Given the description of an element on the screen output the (x, y) to click on. 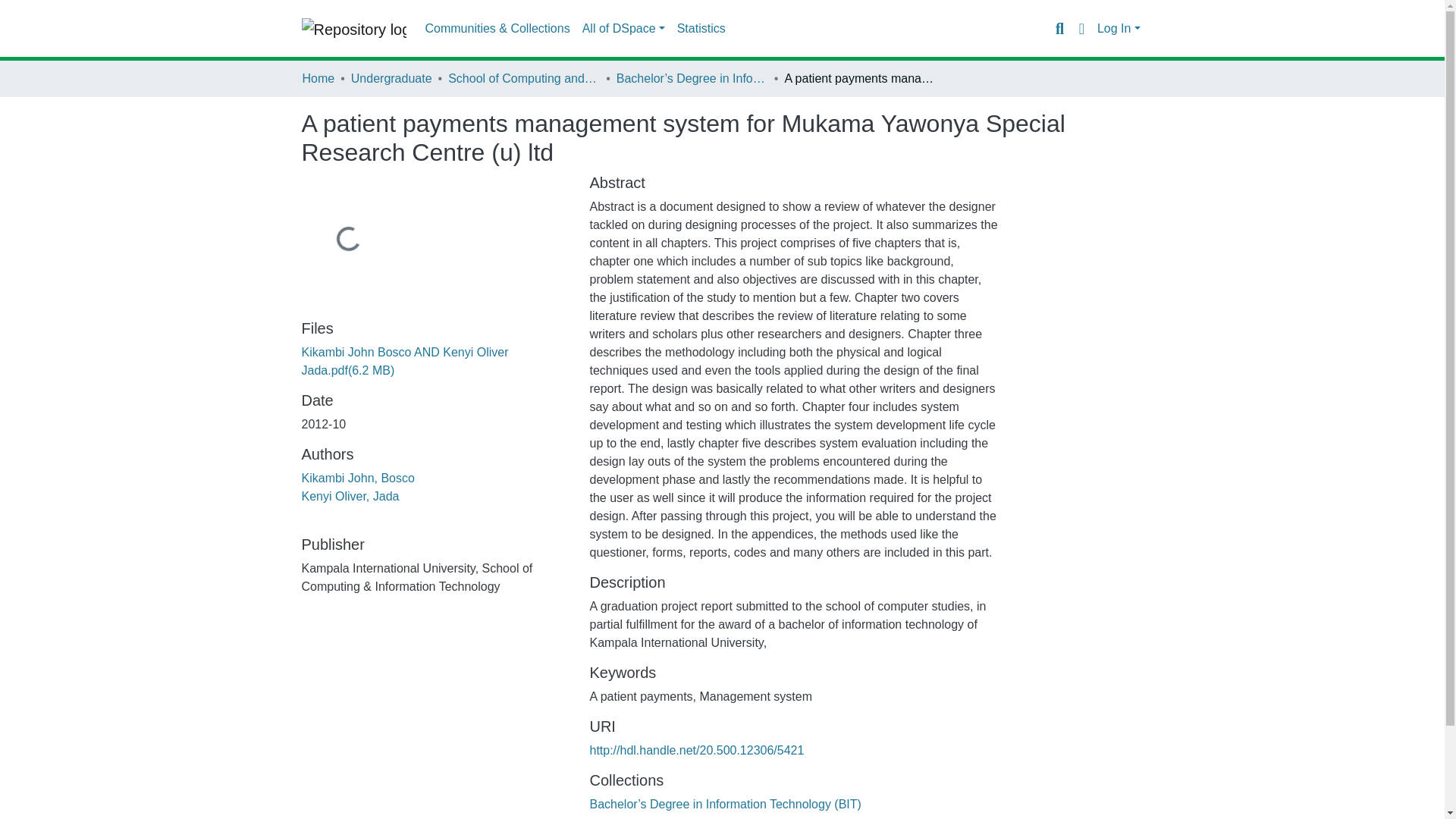
Statistics (701, 28)
Search (1058, 28)
All of DSpace (623, 28)
Log In (1118, 28)
Kenyi Oliver, Jada (349, 495)
Language switch (1081, 28)
Home (317, 78)
Kikambi John, Bosco (357, 477)
Statistics (701, 28)
School of Computing and Information Technology (523, 78)
